Given the description of an element on the screen output the (x, y) to click on. 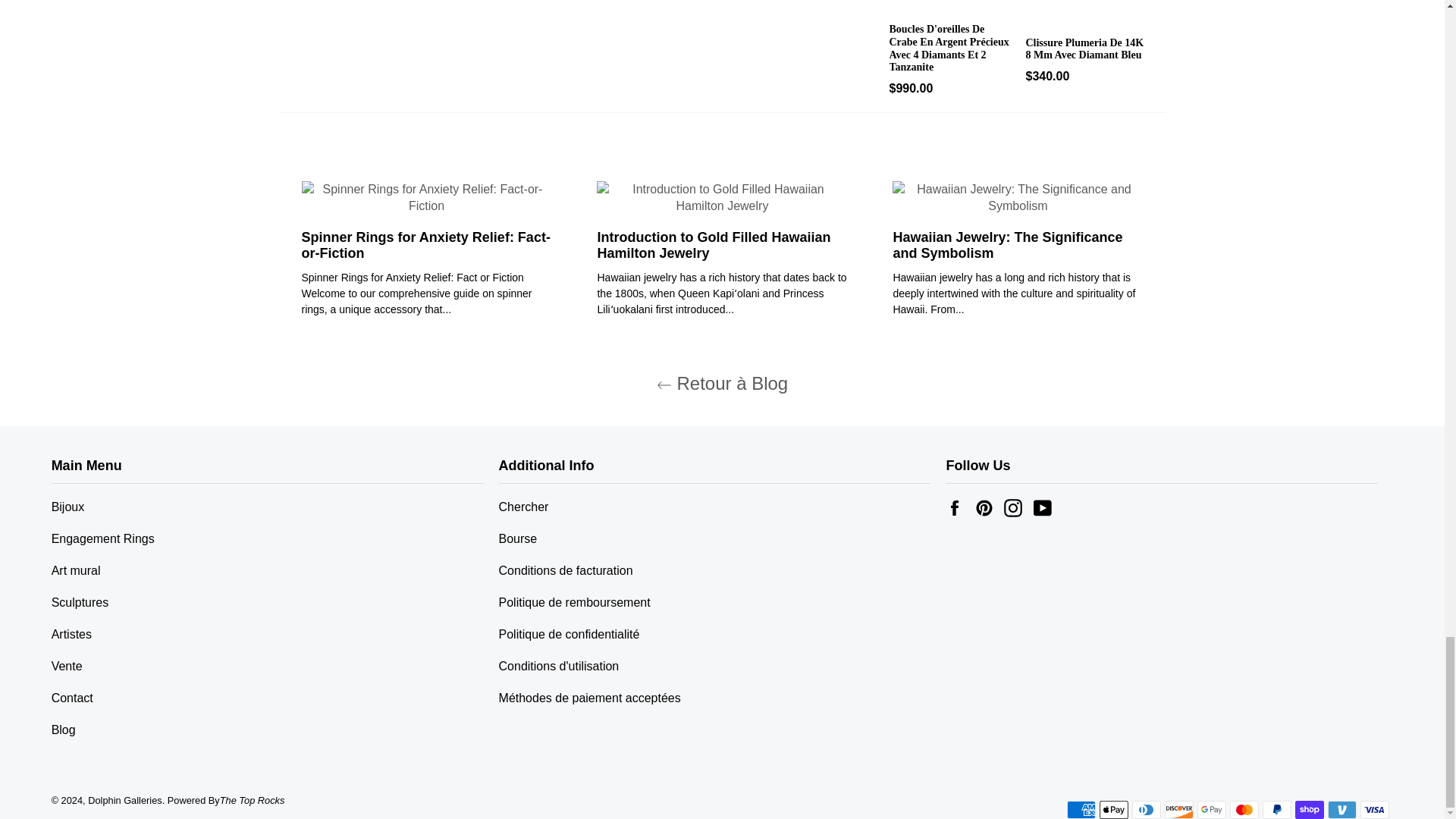
Dolphin Galleries sur YouTube (1046, 507)
Dolphin Galleries sur Facebook (957, 507)
Dolphin Galleries sur Instagram (1016, 507)
Dolphin Galleries sur Pinterest (988, 507)
